Given the description of an element on the screen output the (x, y) to click on. 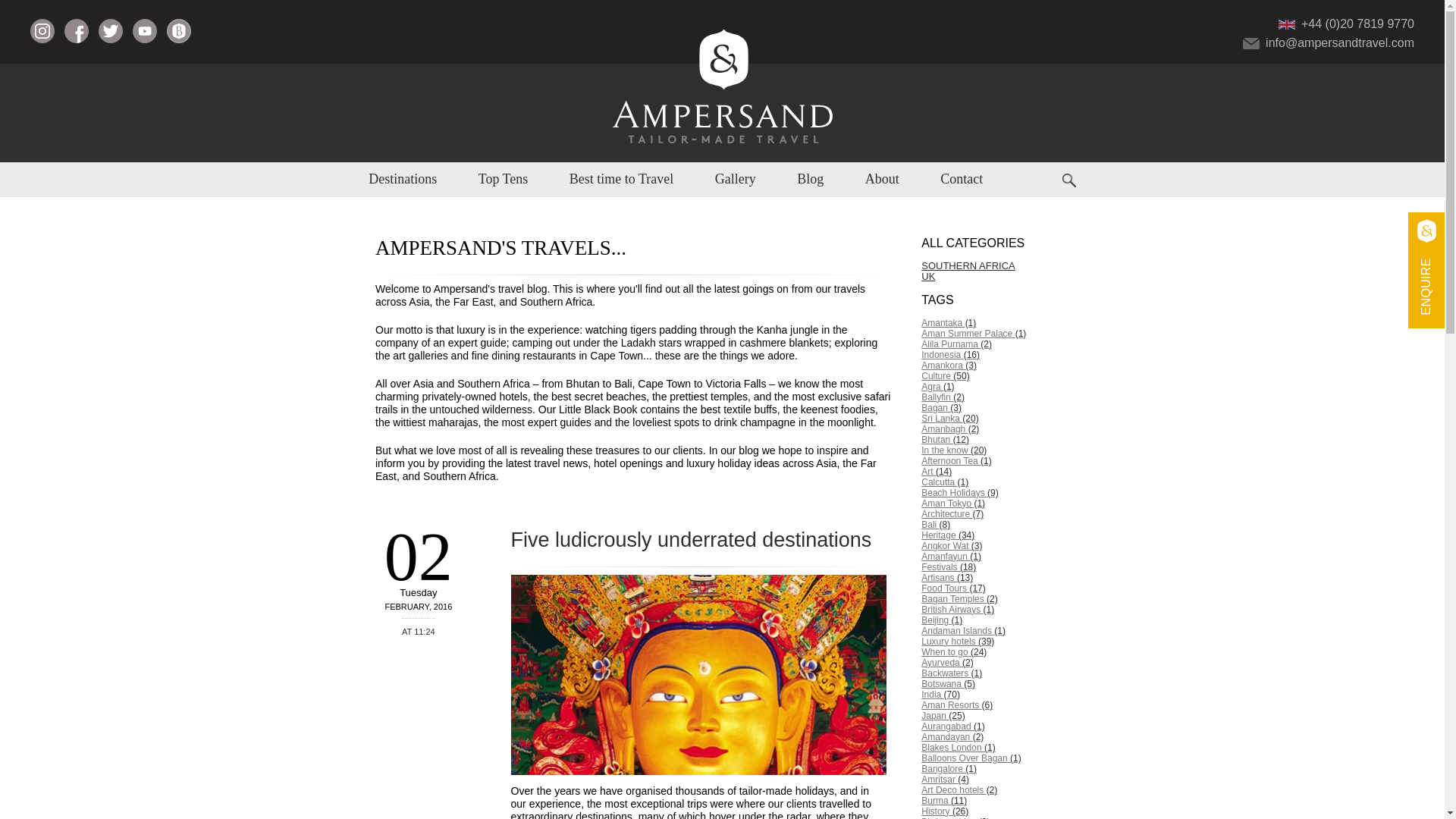
Aman Summer Palace (994, 333)
Culture (994, 376)
Bagan (994, 407)
Ballyfin (994, 397)
Sri Lanka (994, 418)
Five ludicrously underrated destinations (698, 674)
Indonesia (994, 354)
Amankora (994, 365)
Five ludicrously underrated destinations (691, 539)
Destinations (402, 179)
